Given the description of an element on the screen output the (x, y) to click on. 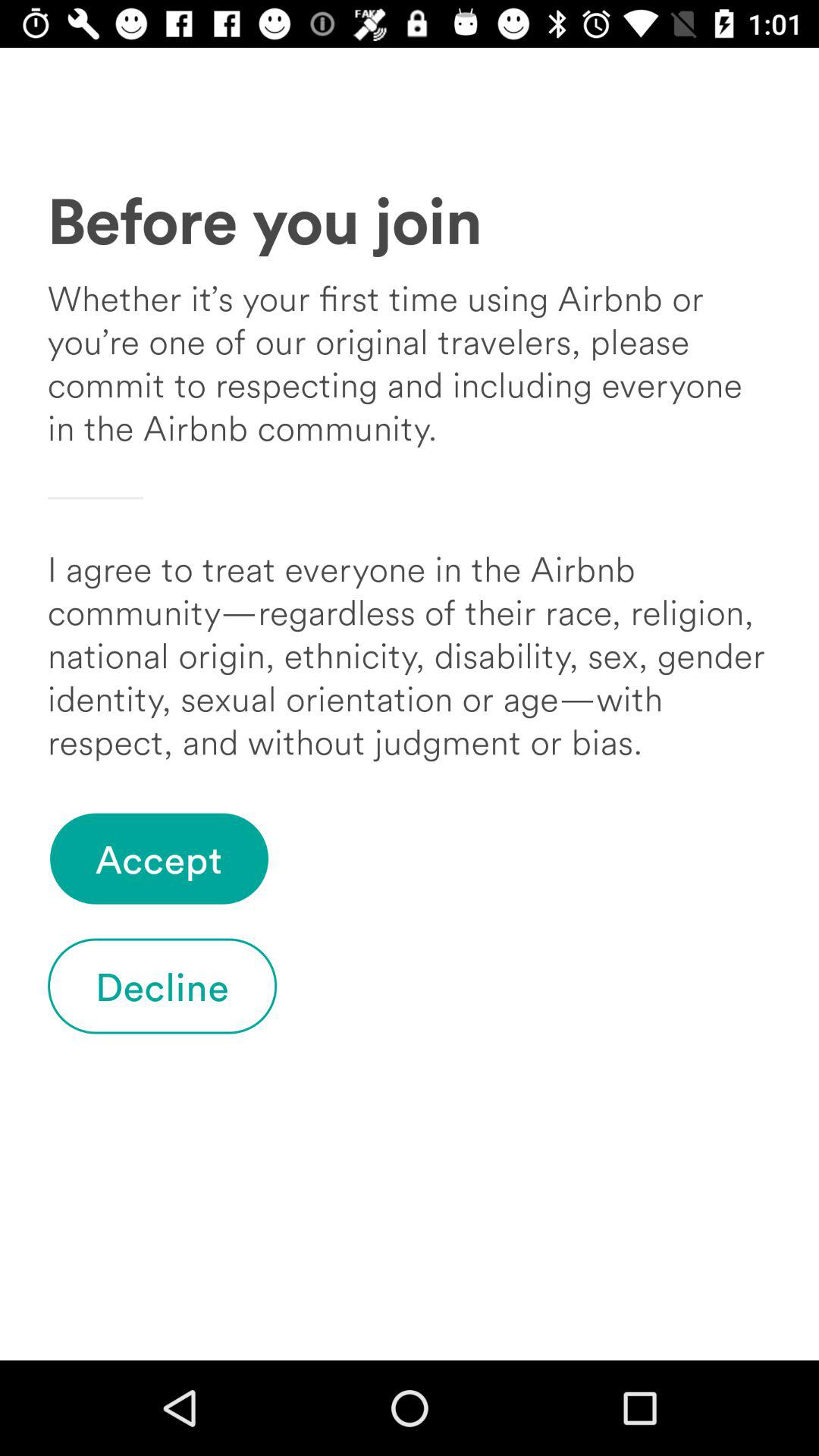
tap icon at the bottom left corner (161, 985)
